Given the description of an element on the screen output the (x, y) to click on. 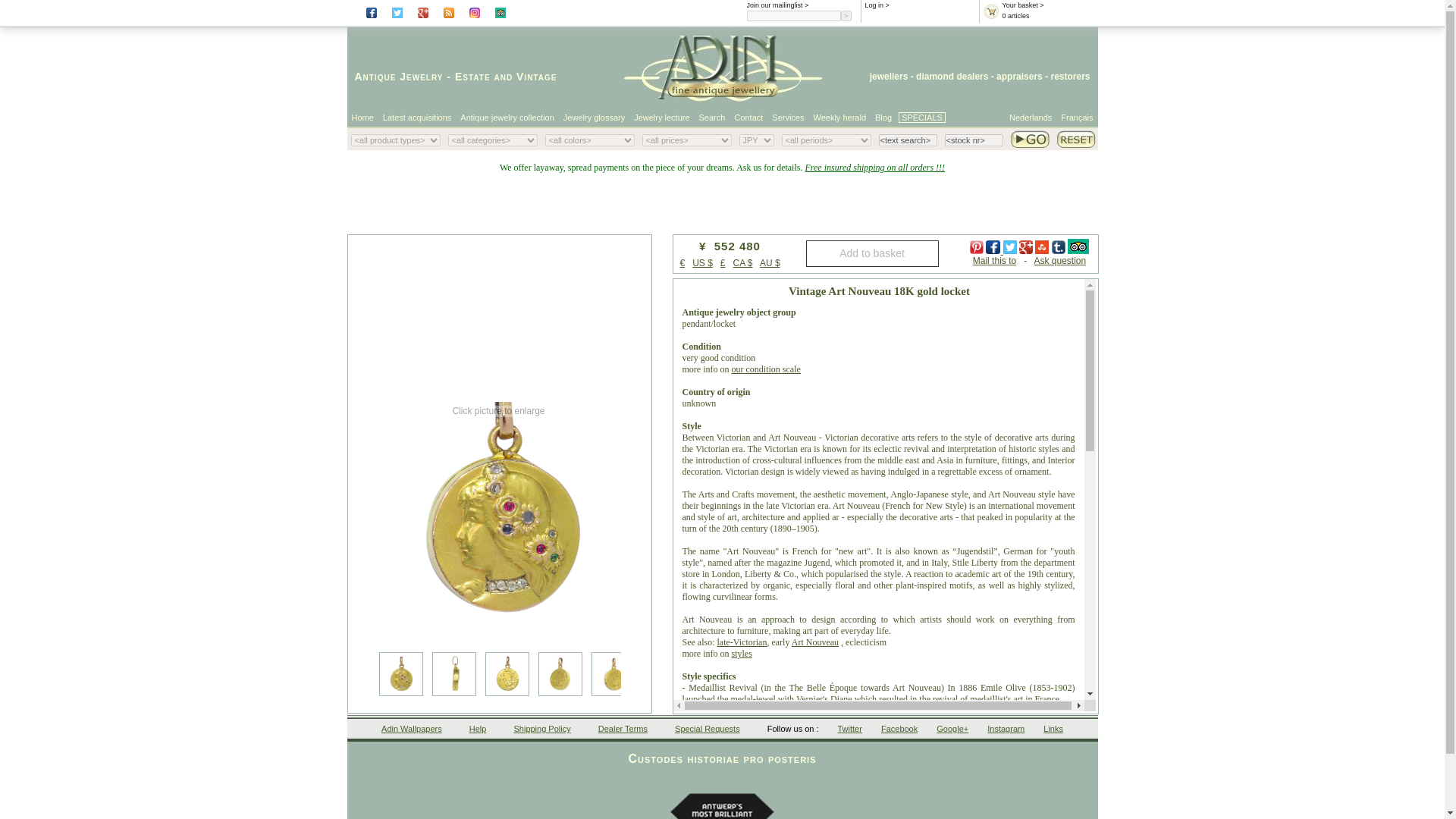
Services (788, 117)
Contact (748, 117)
Search (712, 117)
Estate (472, 76)
restorers (1069, 76)
Blog (882, 117)
appraisers (1018, 76)
jewellers (888, 76)
Jewelry glossary (593, 117)
Nederlands (1030, 117)
Home (362, 117)
Add to basket (871, 252)
SPECIALS (921, 117)
Antique jewelry collection (507, 117)
Weekly herald (839, 117)
